Given the description of an element on the screen output the (x, y) to click on. 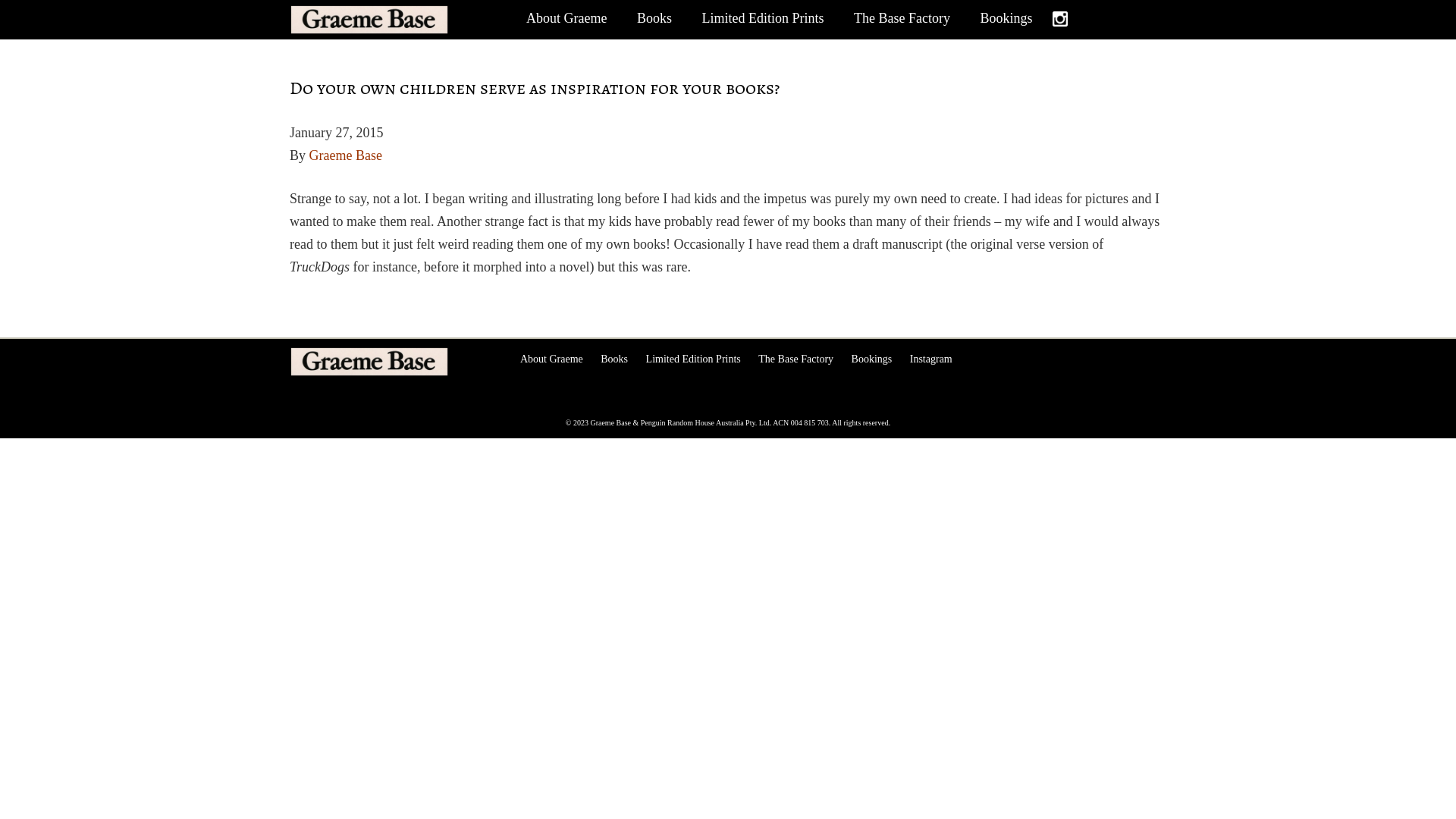
Limited Edition Prints Element type: text (693, 358)
Books Element type: text (614, 358)
Graeme Base Element type: text (345, 155)
The Base Factory Element type: text (901, 18)
Books Element type: text (654, 18)
The Base Factory Element type: text (795, 358)
Bookings Element type: text (1005, 18)
Graeme Base Element type: text (393, 361)
About Graeme Element type: text (566, 18)
Instagram Element type: text (1062, 18)
Bookings Element type: text (872, 358)
Limited Edition Prints Element type: text (762, 18)
Graeme Base Element type: text (393, 19)
Instagram Element type: text (931, 358)
About Graeme Element type: text (551, 358)
